Given the description of an element on the screen output the (x, y) to click on. 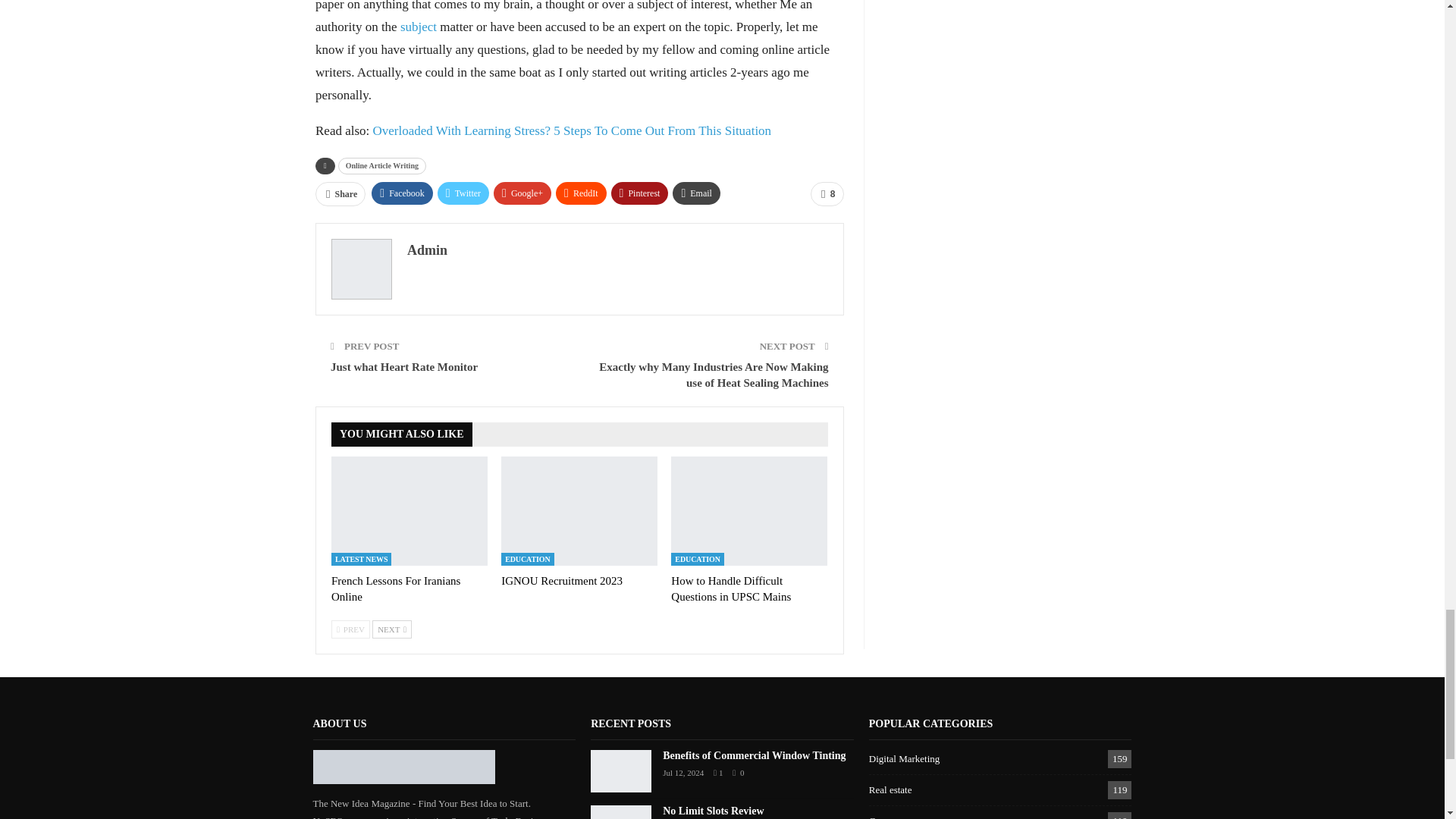
How to Handle Difficult Questions in UPSC Mains (749, 510)
French Lessons For Iranians Online (395, 588)
Next (392, 628)
Previous (350, 628)
IGNOU Recruitment 2023 (579, 510)
IGNOU Recruitment 2023 (561, 580)
How to Handle Difficult Questions in UPSC Mains (730, 588)
French Lessons For Iranians Online (409, 510)
